Given the description of an element on the screen output the (x, y) to click on. 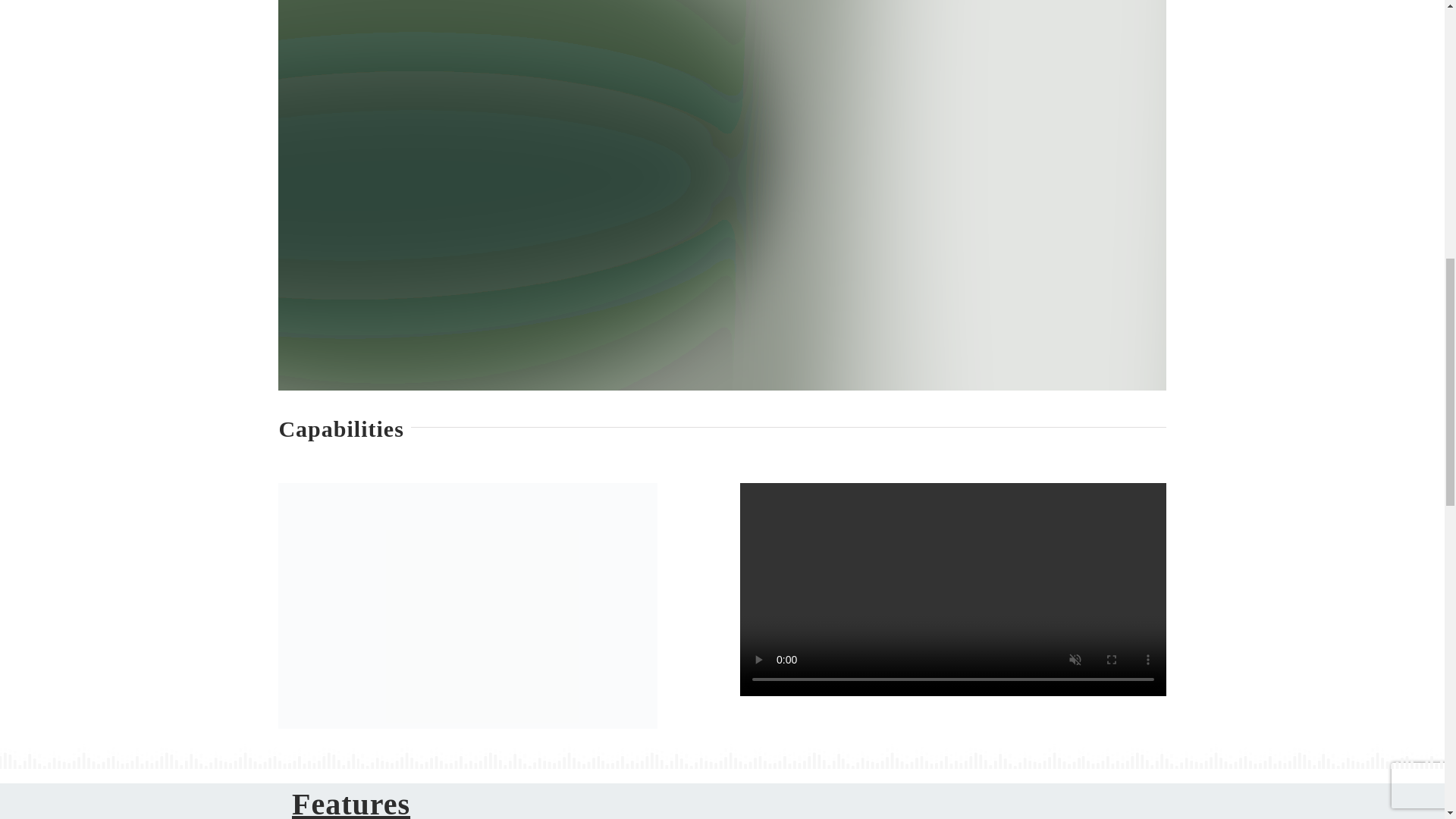
Tigran Capabilities (468, 605)
